Given the description of an element on the screen output the (x, y) to click on. 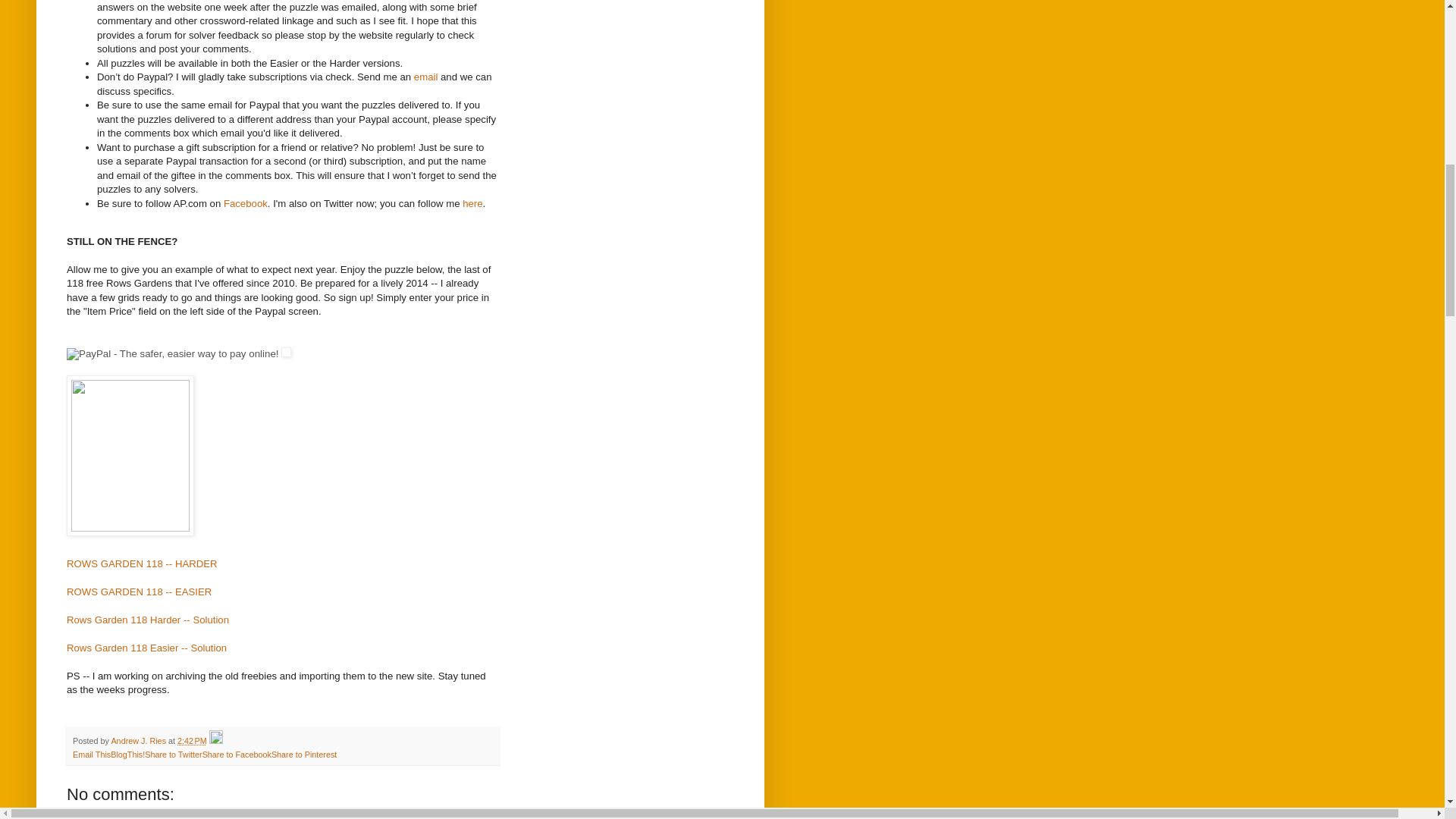
here (472, 203)
ROWS GARDEN 118 -- EASIER (138, 591)
permanent link (191, 740)
email (427, 76)
Share to Facebook (236, 754)
Share to Twitter (173, 754)
BlogThis! (127, 754)
Rows Garden 118 Easier -- Solution (146, 647)
Share to Pinterest (303, 754)
Share to Pinterest (303, 754)
Edit Post (215, 740)
BlogThis! (127, 754)
author profile (139, 740)
ROWS GARDEN 118 -- HARDER (141, 563)
